Given the description of an element on the screen output the (x, y) to click on. 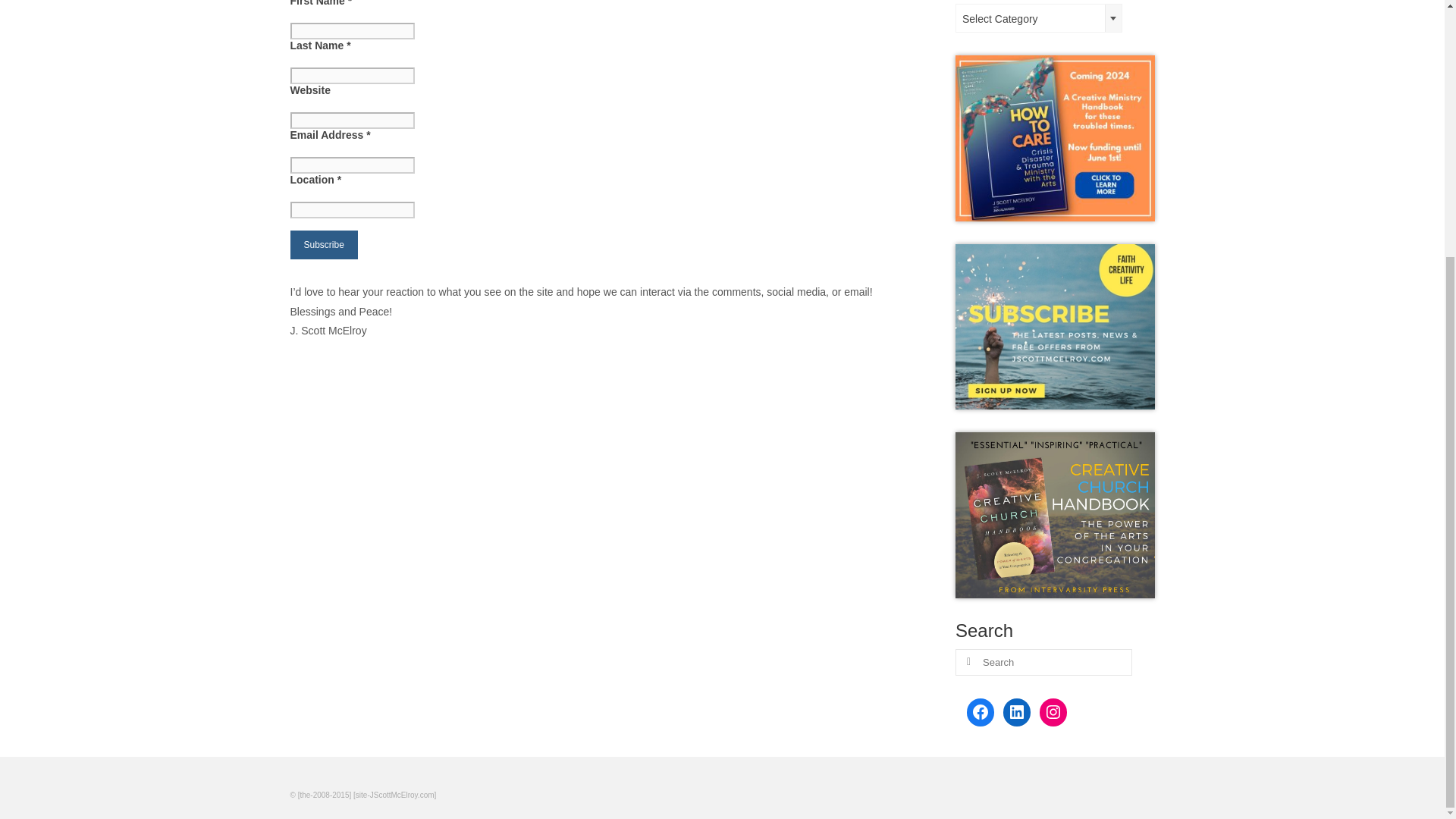
Select Category (1038, 18)
LinkedIn (1016, 711)
Subscribe (322, 244)
Subscribe (322, 244)
Facebook (980, 711)
Instagram (1053, 711)
